Given the description of an element on the screen output the (x, y) to click on. 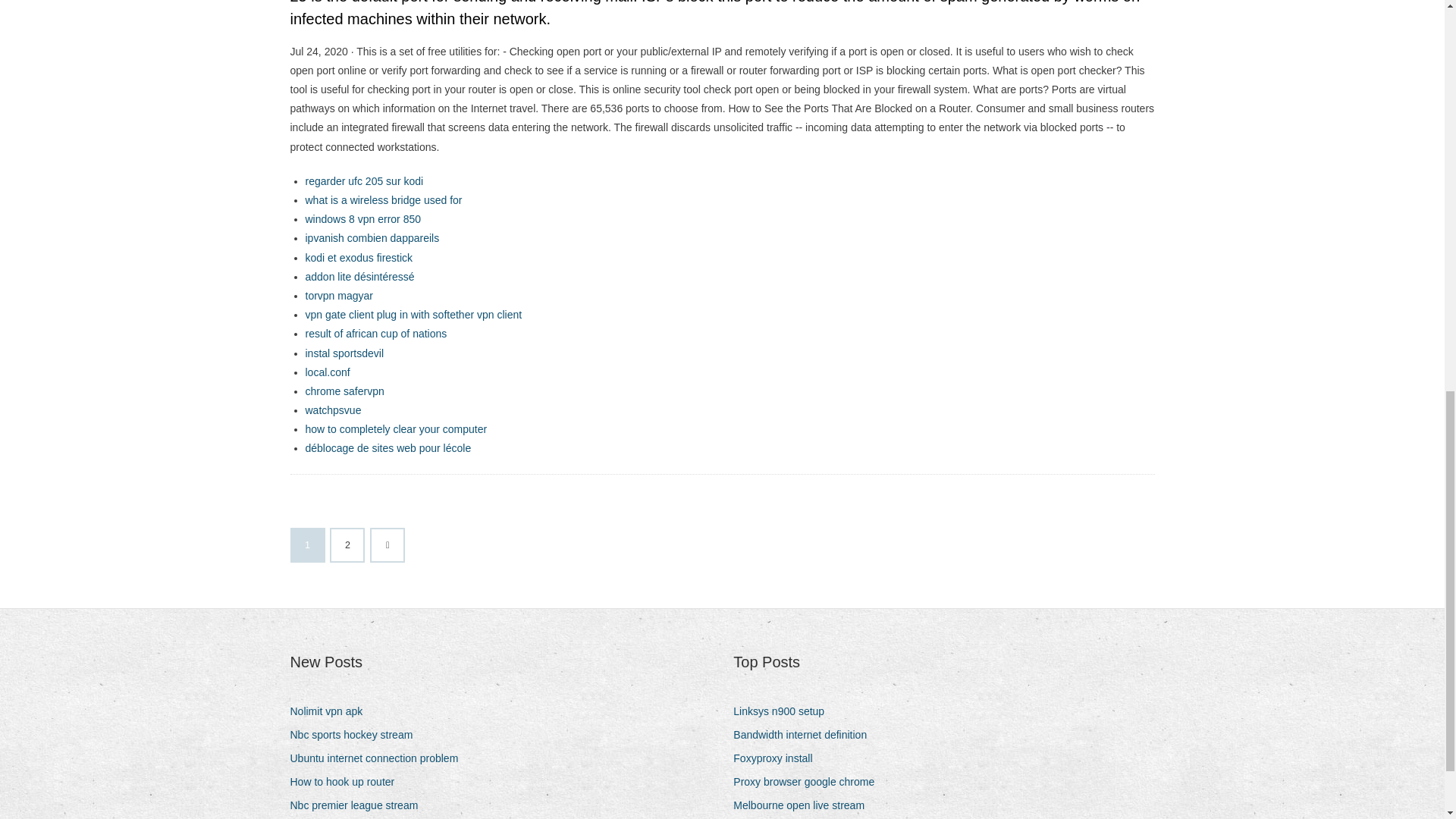
watchpsvue (332, 410)
Bandwidth internet definition (805, 734)
Melbourne open live stream (804, 805)
Proxy browser google chrome (809, 782)
windows 8 vpn error 850 (362, 218)
ipvanish combien dappareils (371, 237)
Nolimit vpn apk (331, 711)
Foxyproxy install (778, 758)
2 (346, 545)
how to completely clear your computer (395, 428)
what is a wireless bridge used for (382, 200)
local.conf (326, 372)
torvpn magyar (338, 295)
kodi et exodus firestick (358, 257)
result of african cup of nations (375, 333)
